Given the description of an element on the screen output the (x, y) to click on. 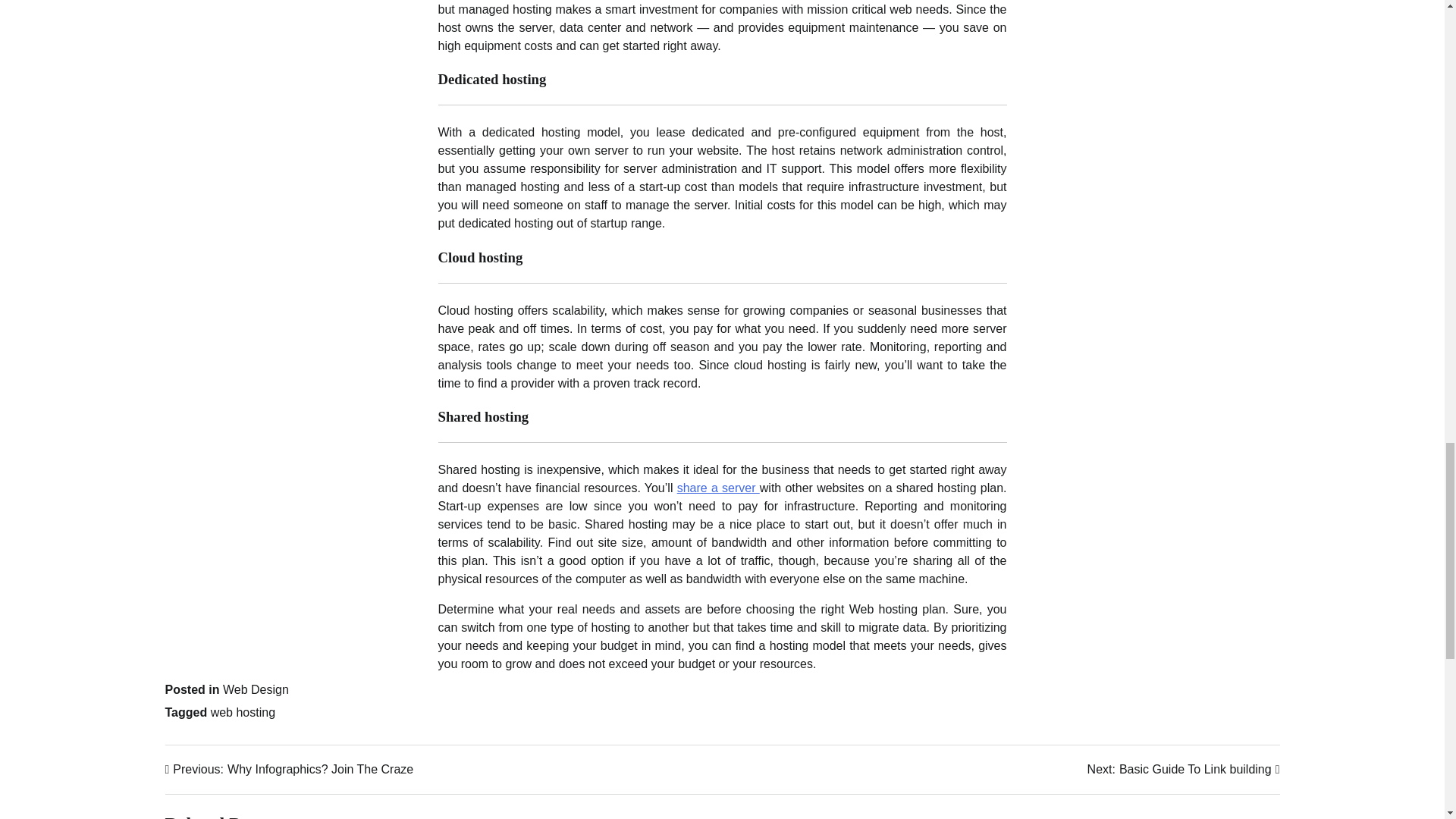
Web Design (255, 689)
share a server  (1183, 769)
web hosting (289, 769)
